Given the description of an element on the screen output the (x, y) to click on. 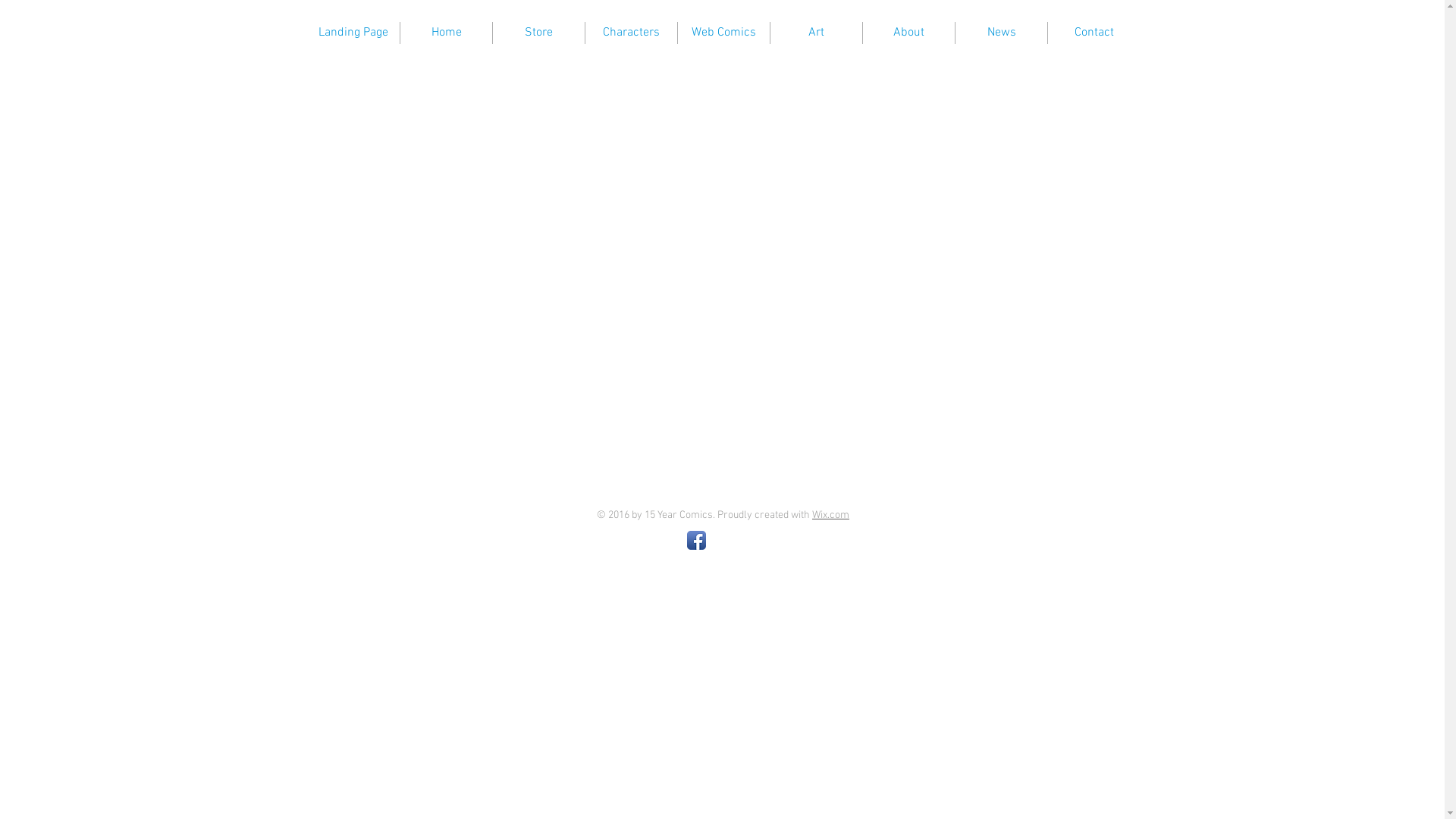
Store Element type: text (538, 32)
About Element type: text (908, 32)
Web Comics Element type: text (723, 32)
Contact Element type: text (1093, 32)
Characters Element type: text (631, 32)
Art Element type: text (816, 32)
Home Element type: text (446, 32)
News Element type: text (1001, 32)
Landing Page Element type: text (353, 32)
Wix.com Element type: text (830, 514)
